Given the description of an element on the screen output the (x, y) to click on. 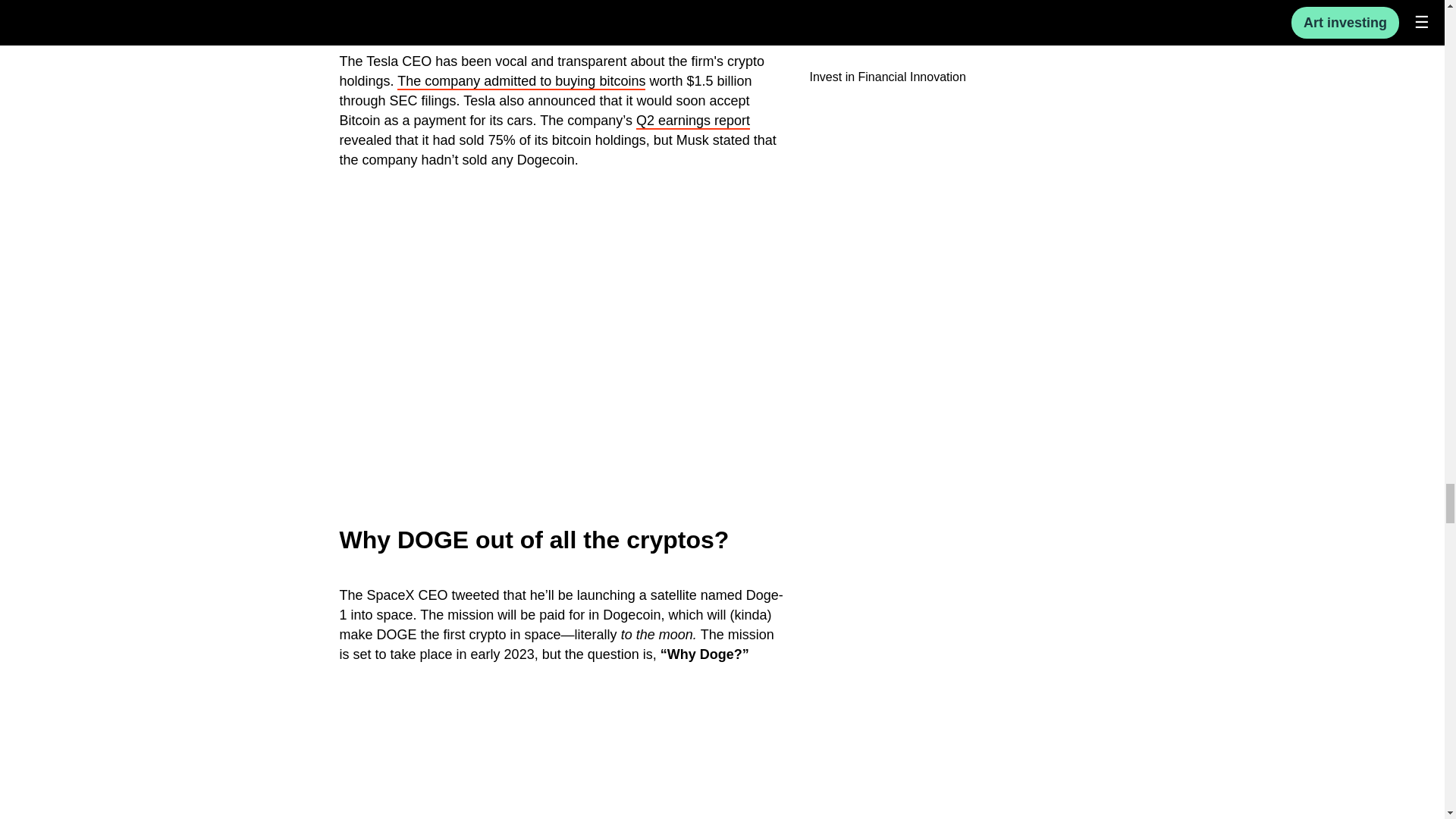
Q2 earnings report (692, 121)
The company admitted to buying bitcoins (521, 81)
If this wallet (496, 4)
